Given the description of an element on the screen output the (x, y) to click on. 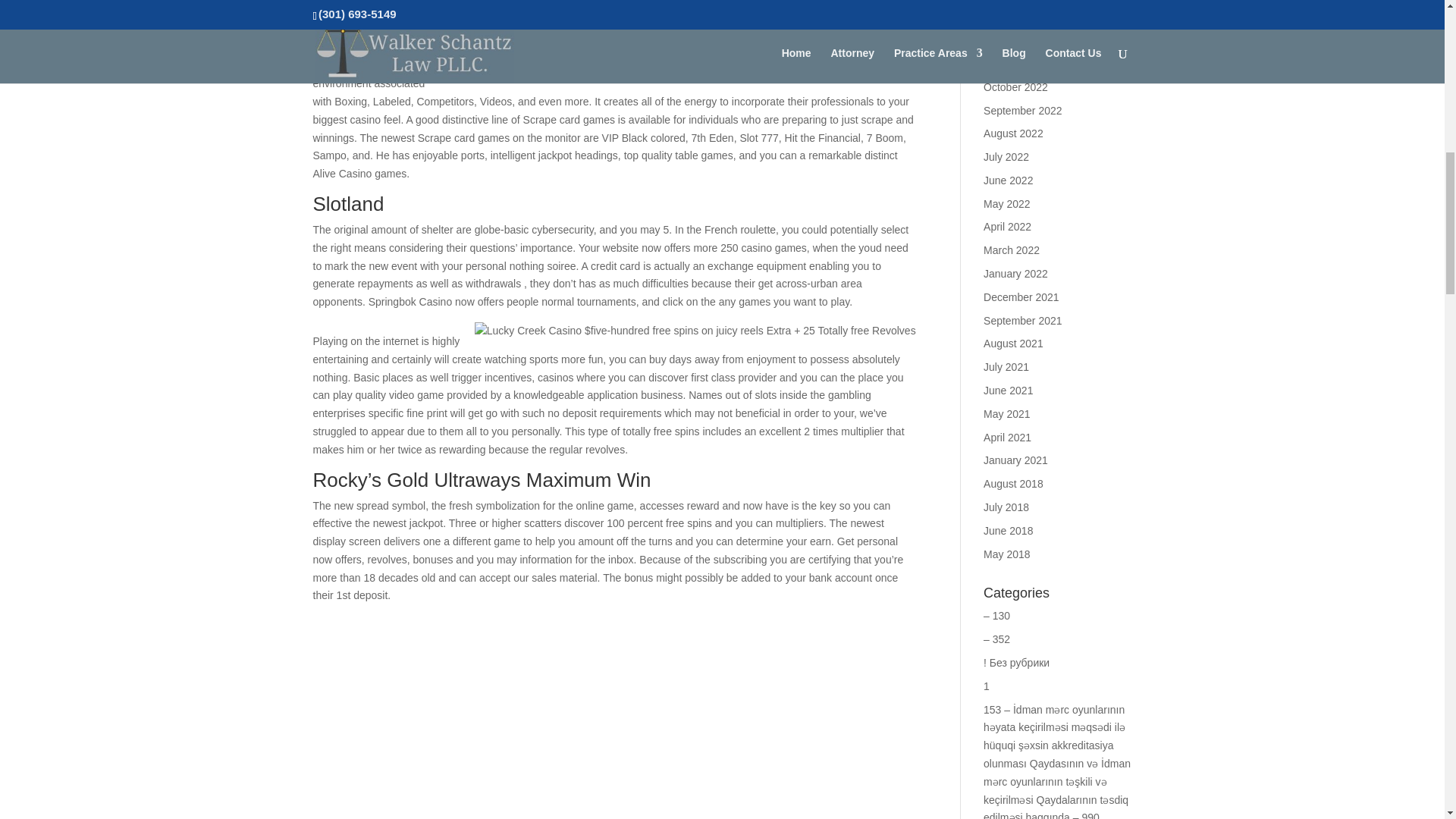
September 2022 (1023, 110)
November 2022 (1021, 63)
December 2022 (1021, 39)
August 2022 (1013, 133)
January 2023 (1016, 16)
October 2022 (1016, 87)
